Given the description of an element on the screen output the (x, y) to click on. 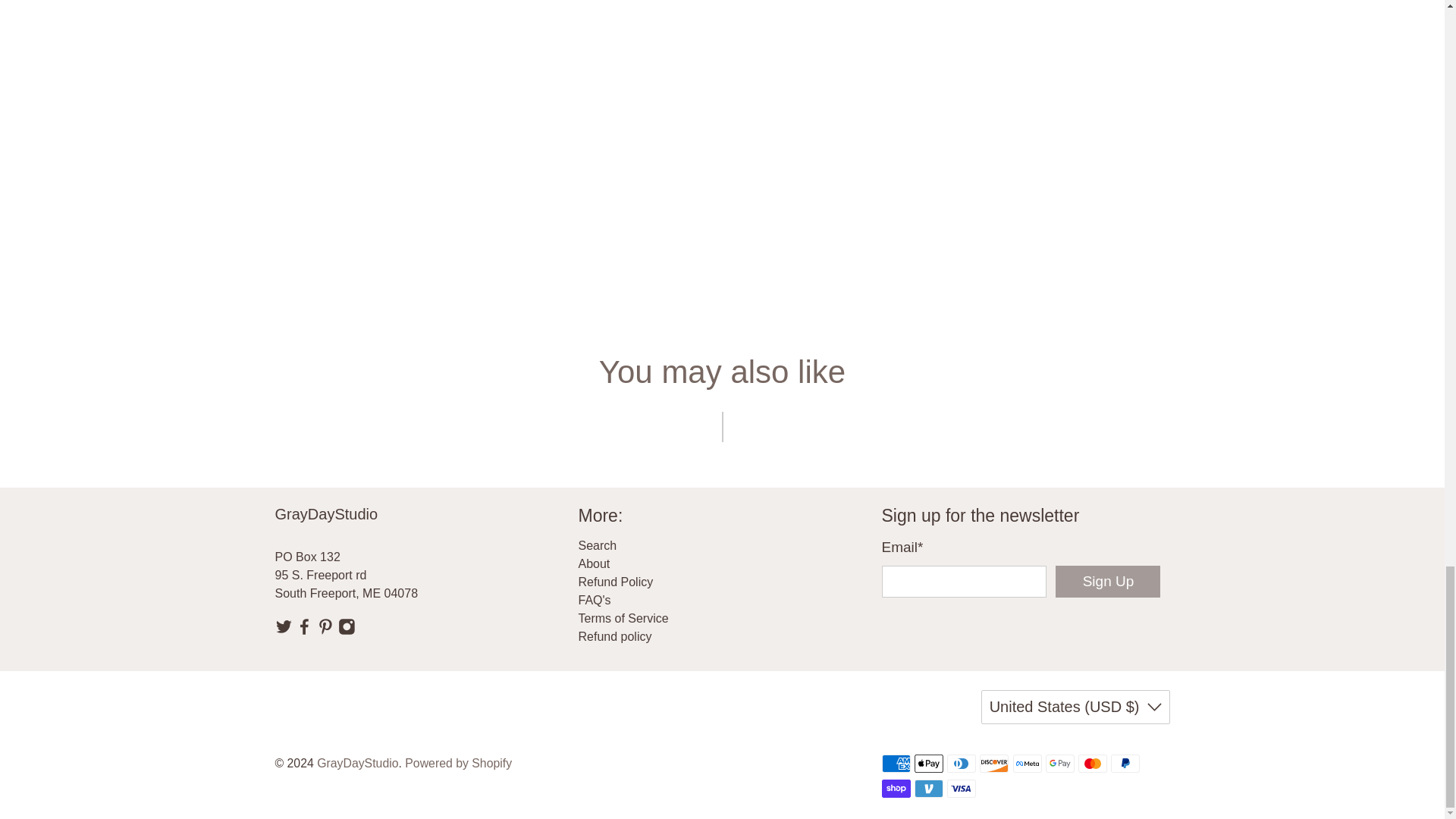
GrayDayStudio (390, 524)
GrayDayStudio on Facebook (304, 631)
Apple Pay (928, 763)
GrayDayStudio on Pinterest (325, 631)
American Express (895, 763)
GrayDayStudio on Twitter (283, 631)
